Given the description of an element on the screen output the (x, y) to click on. 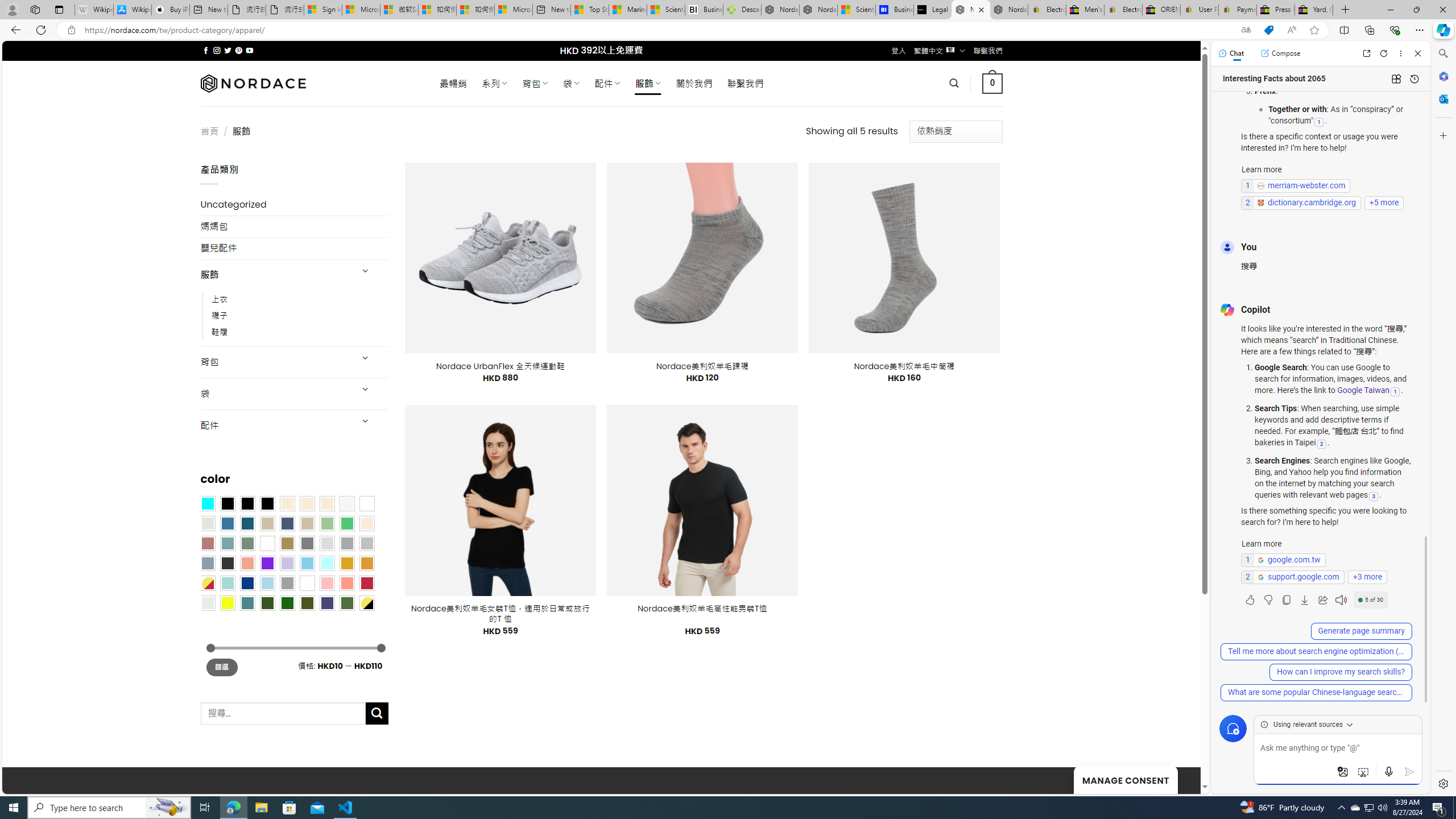
Descarga Driver Updater (741, 9)
Follow on Twitter (227, 50)
Cream (327, 503)
